Given the description of an element on the screen output the (x, y) to click on. 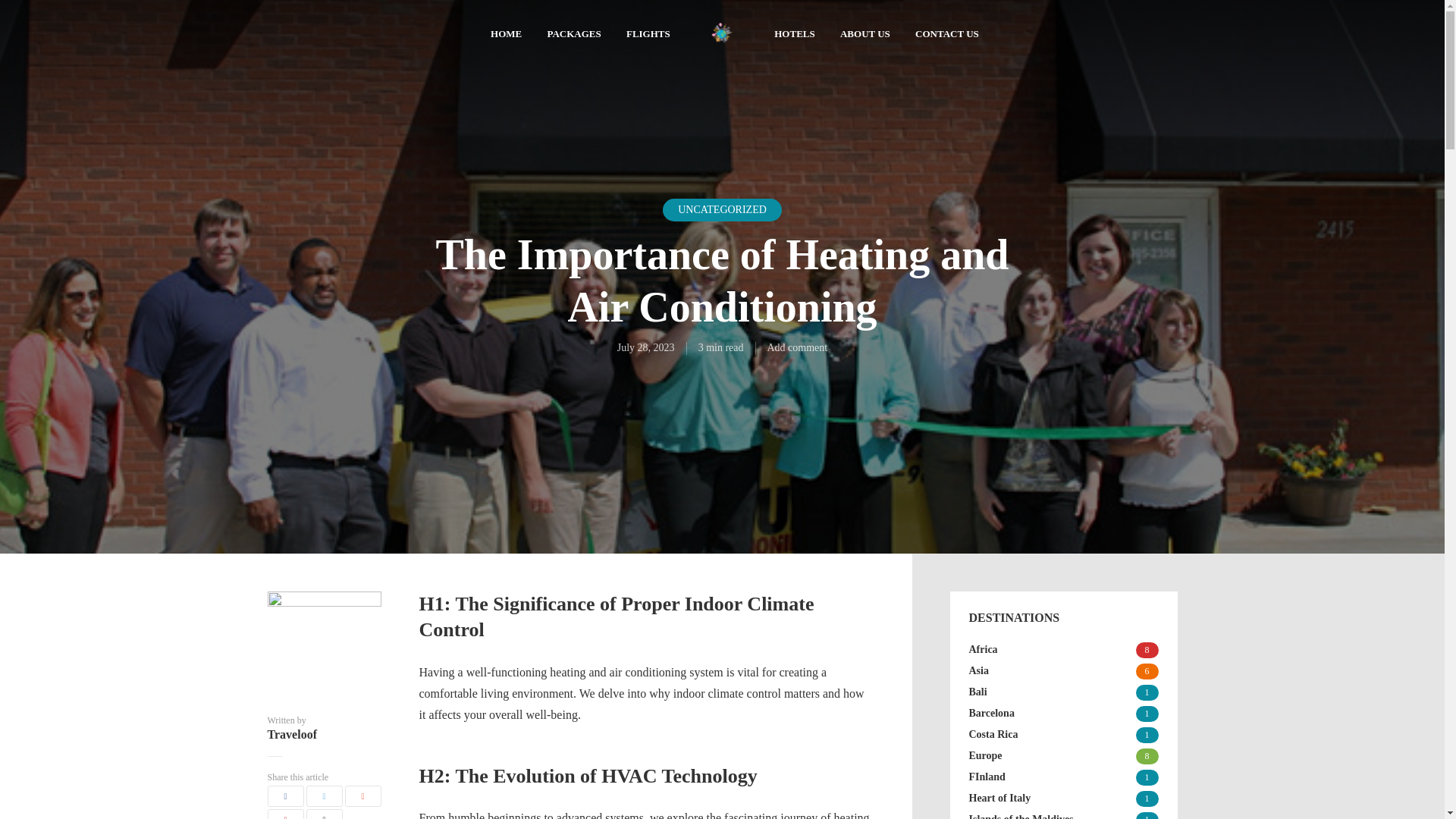
ABOUT US (864, 34)
FLIGHTS (647, 34)
Add comment (797, 347)
Add comment (797, 347)
CONTACT US (946, 34)
HOTELS (793, 34)
UNCATEGORIZED (721, 210)
Traveloof (323, 734)
PACKAGES (573, 34)
